Given the description of an element on the screen output the (x, y) to click on. 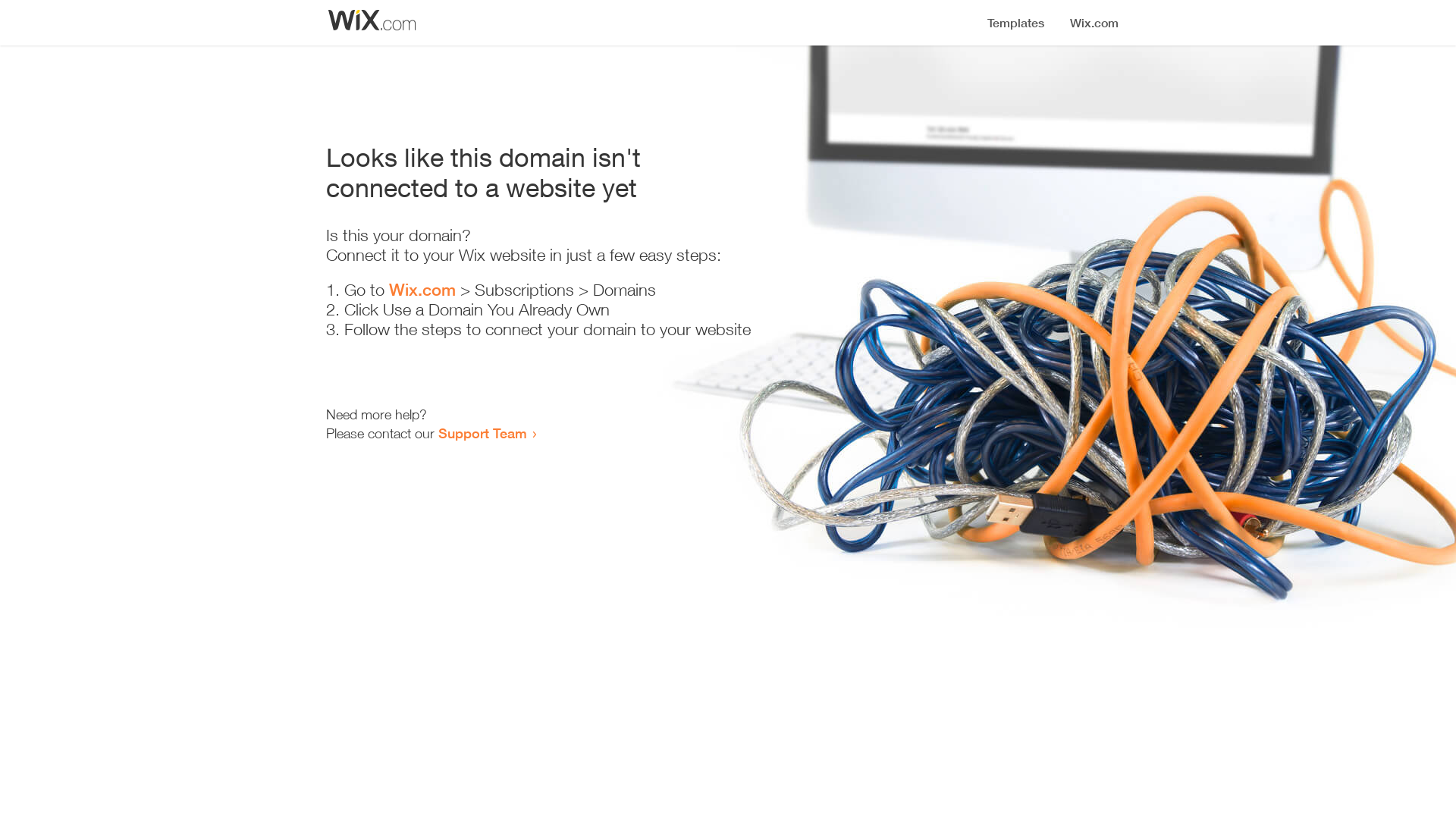
Support Team Element type: text (482, 432)
Wix.com Element type: text (422, 289)
